Given the description of an element on the screen output the (x, y) to click on. 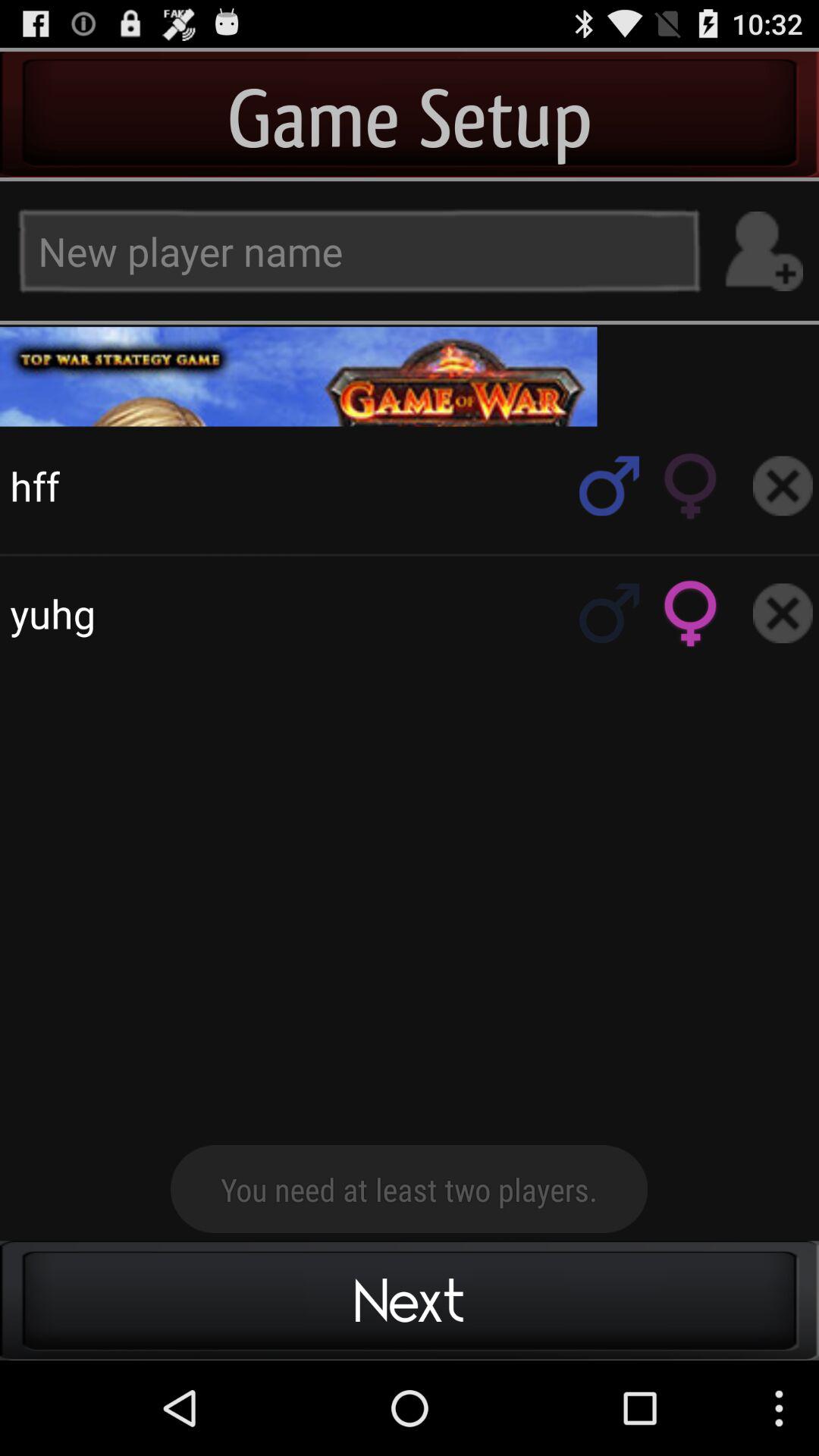
game page (409, 376)
